Given the description of an element on the screen output the (x, y) to click on. 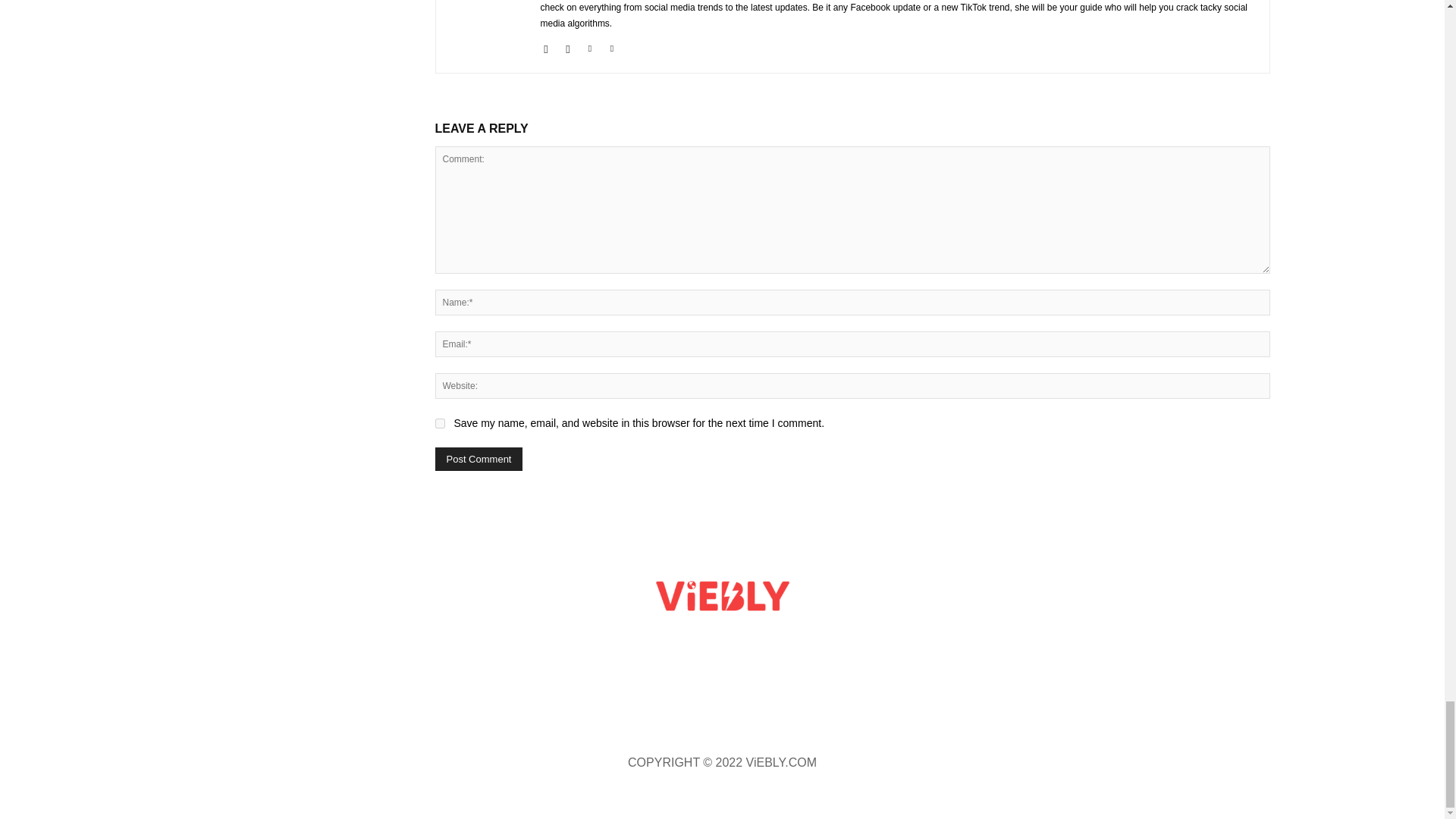
Post Comment (478, 458)
yes (440, 423)
